Given the description of an element on the screen output the (x, y) to click on. 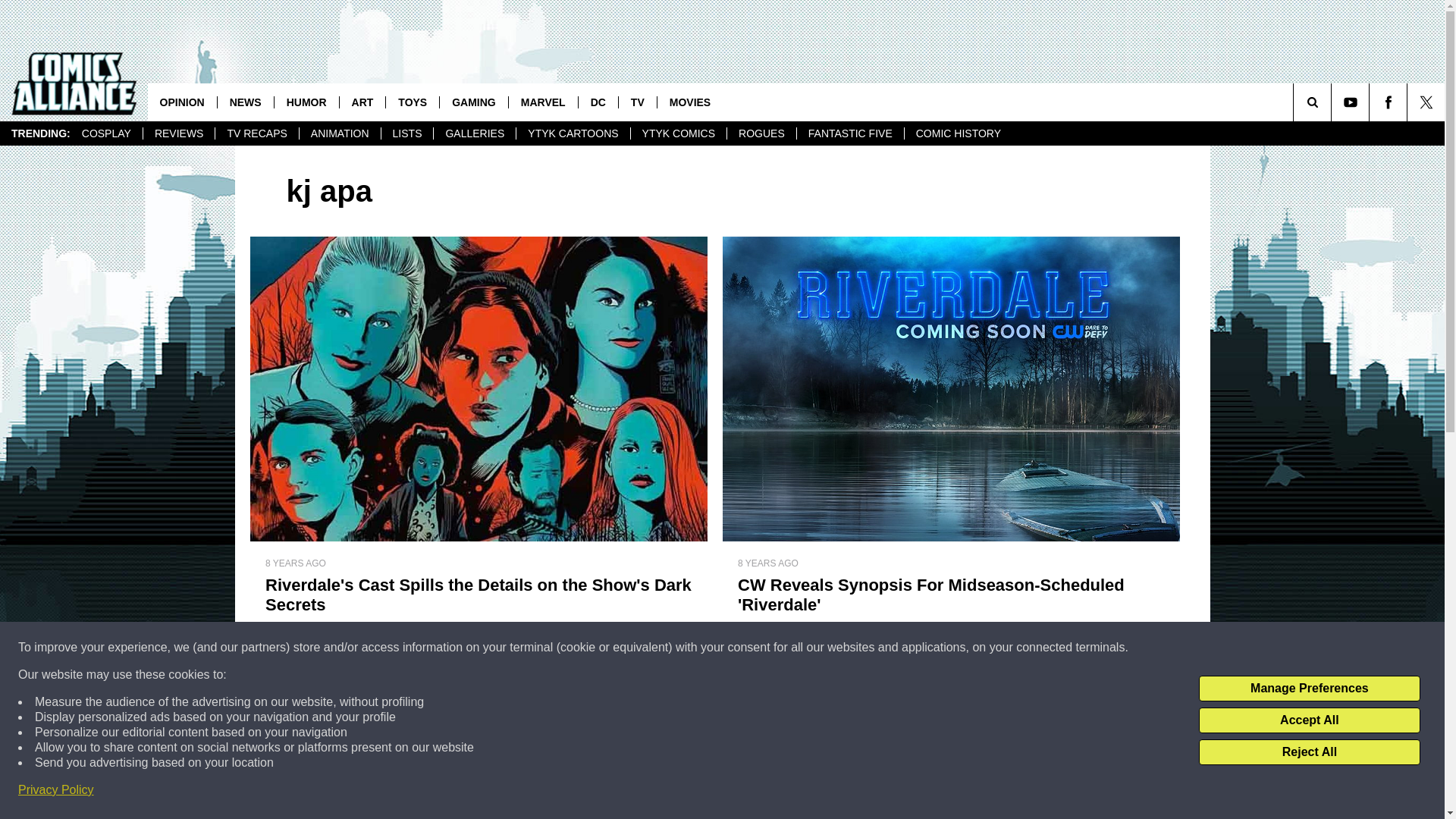
TOYS (412, 102)
Manage Preferences (1309, 688)
LISTS (406, 133)
FANTASTIC FIVE (850, 133)
ROGUES (761, 133)
Accept All (1309, 720)
CW Reveals Synopsis For Midseason-Scheduled 'Riverdale' (949, 595)
Privacy Policy (55, 789)
OPINION (182, 102)
MARVEL (543, 102)
DC (597, 102)
YTYK COMICS (678, 133)
TV (636, 102)
REVIEWS (178, 133)
COMIC HISTORY (957, 133)
